Given the description of an element on the screen output the (x, y) to click on. 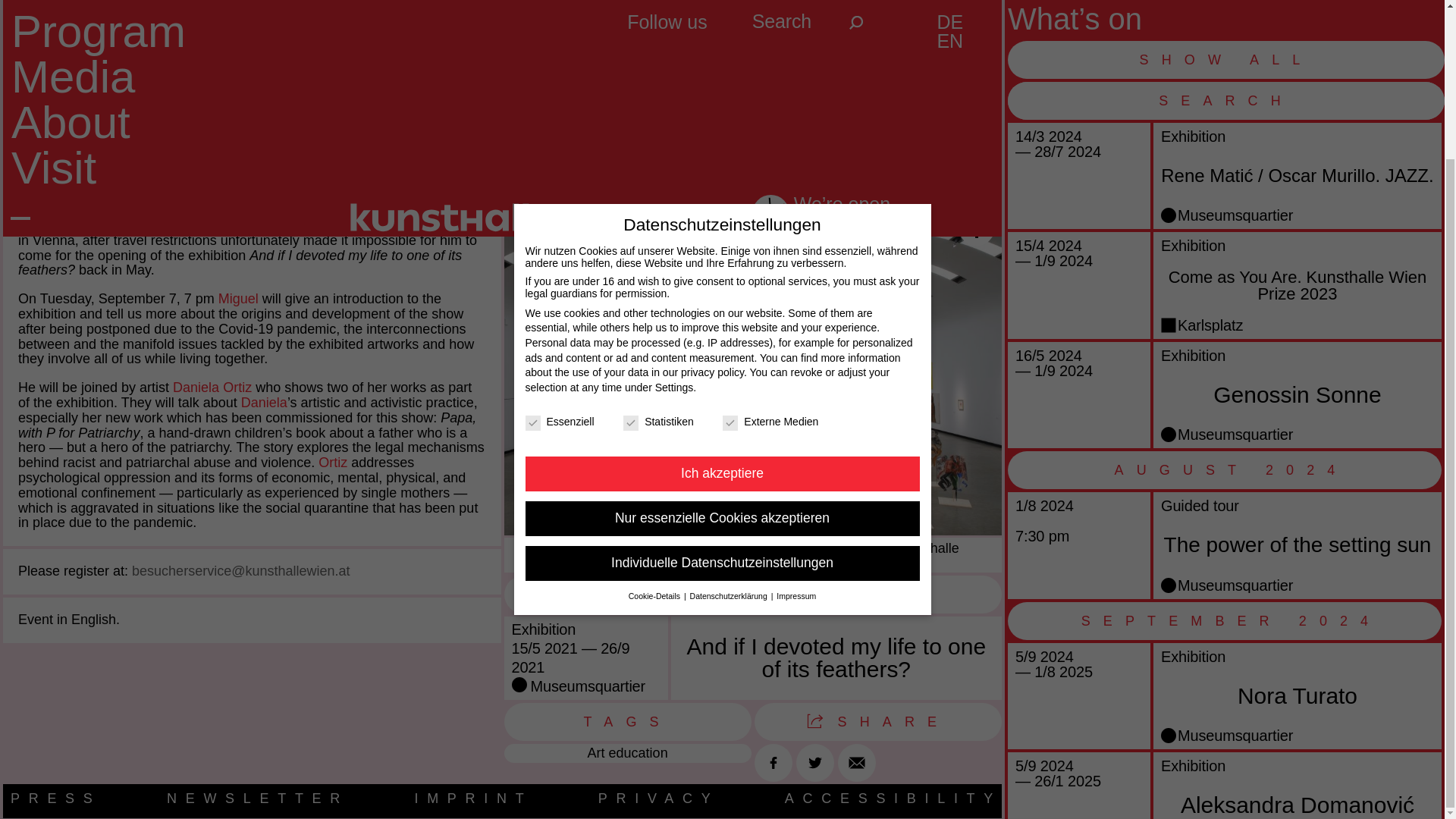
Thanks for reaching out (39, 90)
Art education Tag (627, 752)
Thanks for reaching out (964, 90)
Visit (53, 3)
